Given the description of an element on the screen output the (x, y) to click on. 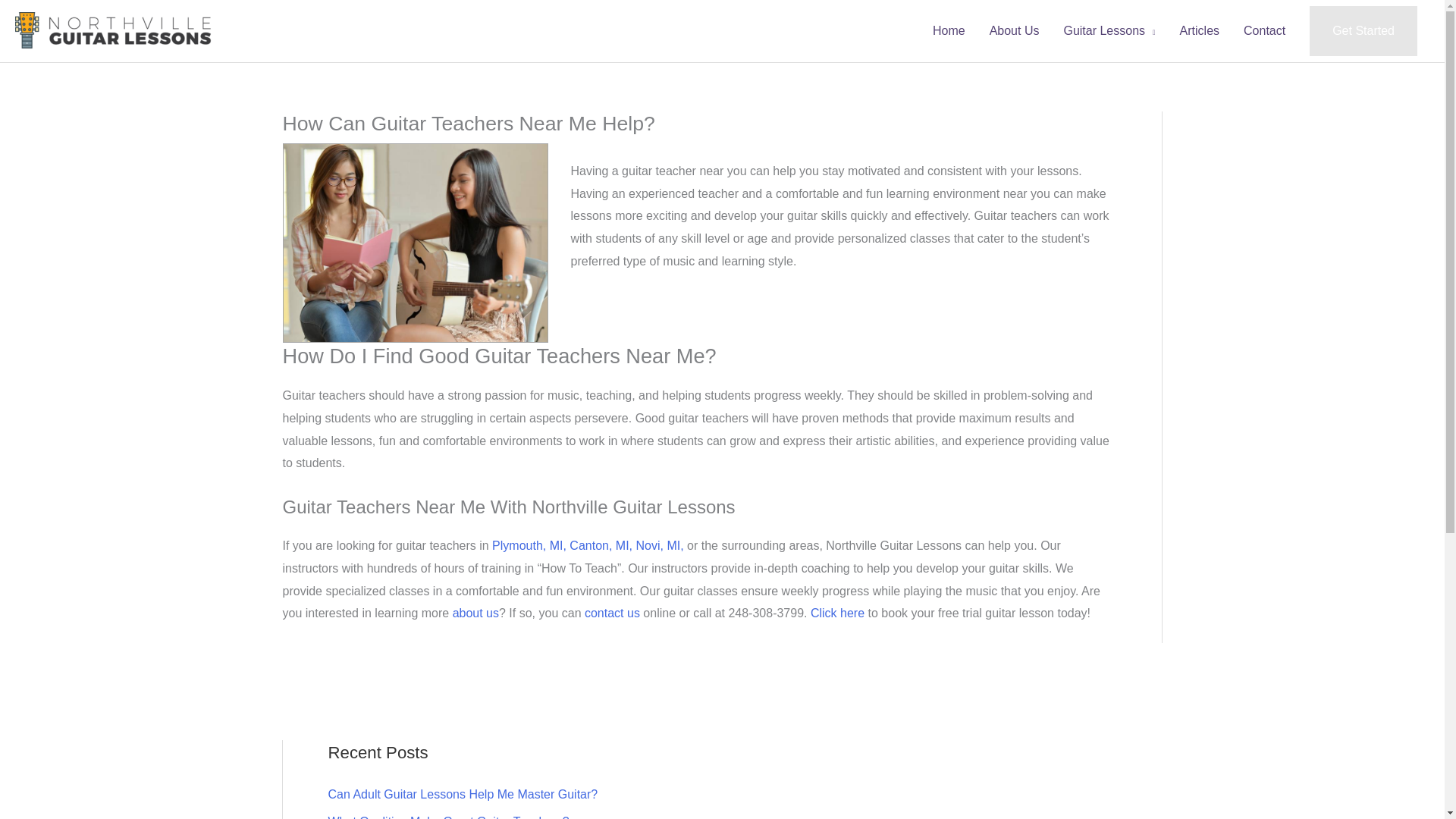
Home (948, 31)
Can Adult Guitar Lessons Help Me Master Guitar? (461, 793)
contact us (612, 612)
Get Started (1362, 30)
What Qualities Make Great Guitar Teachers? (448, 816)
Plymouth, MI, (529, 545)
Canton, MI, (600, 545)
Click here (837, 612)
Novi, MI, (660, 545)
Contact (1264, 31)
